Given the description of an element on the screen output the (x, y) to click on. 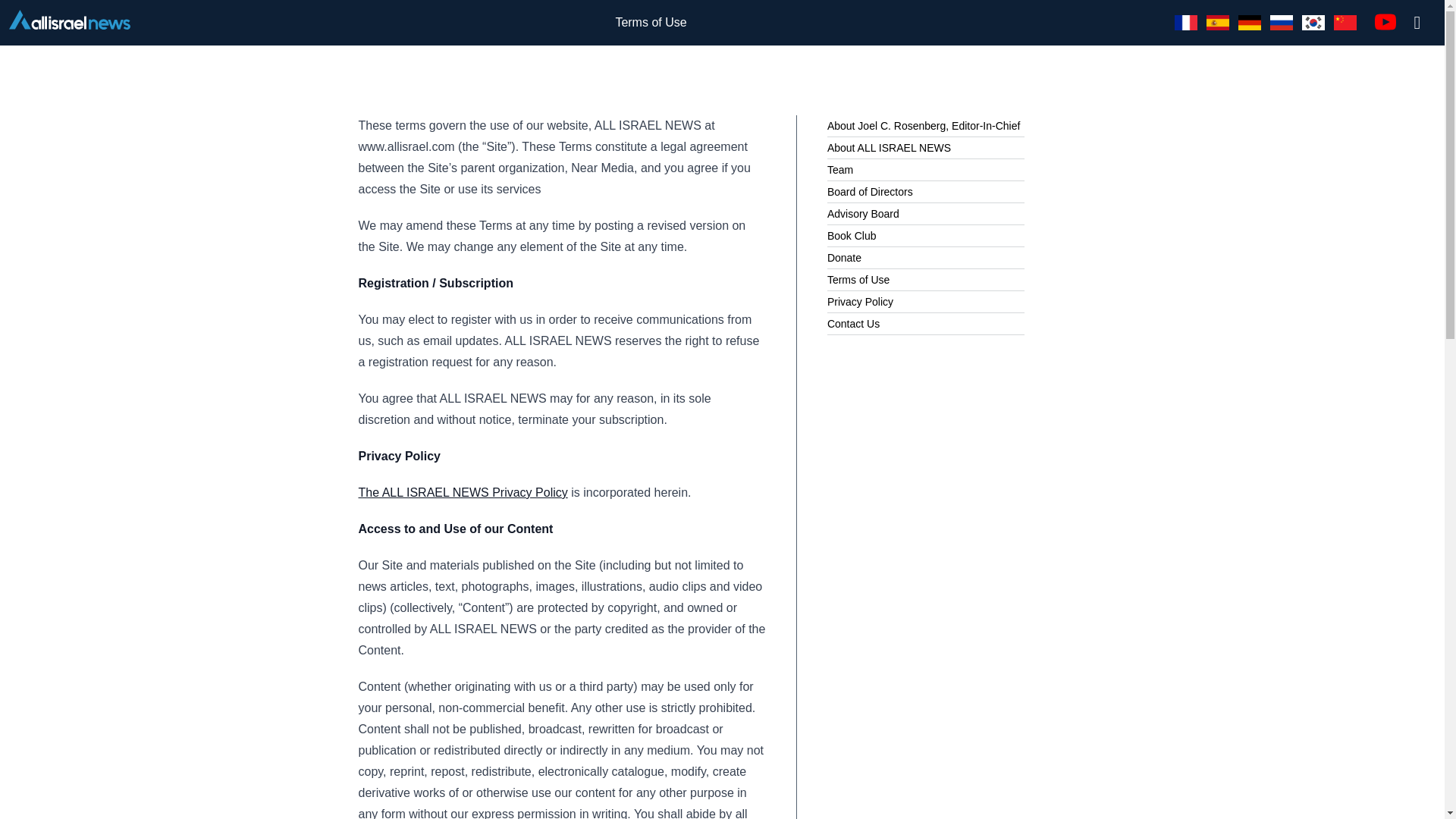
Team (840, 169)
Contact Us (853, 323)
German (1249, 22)
French (1185, 22)
Youtube (1385, 20)
Book Club (851, 235)
Advisory Board (863, 213)
Donate (844, 257)
The ALL ISRAEL NEWS Privacy Policy (462, 492)
Board of Directors (869, 191)
